Given the description of an element on the screen output the (x, y) to click on. 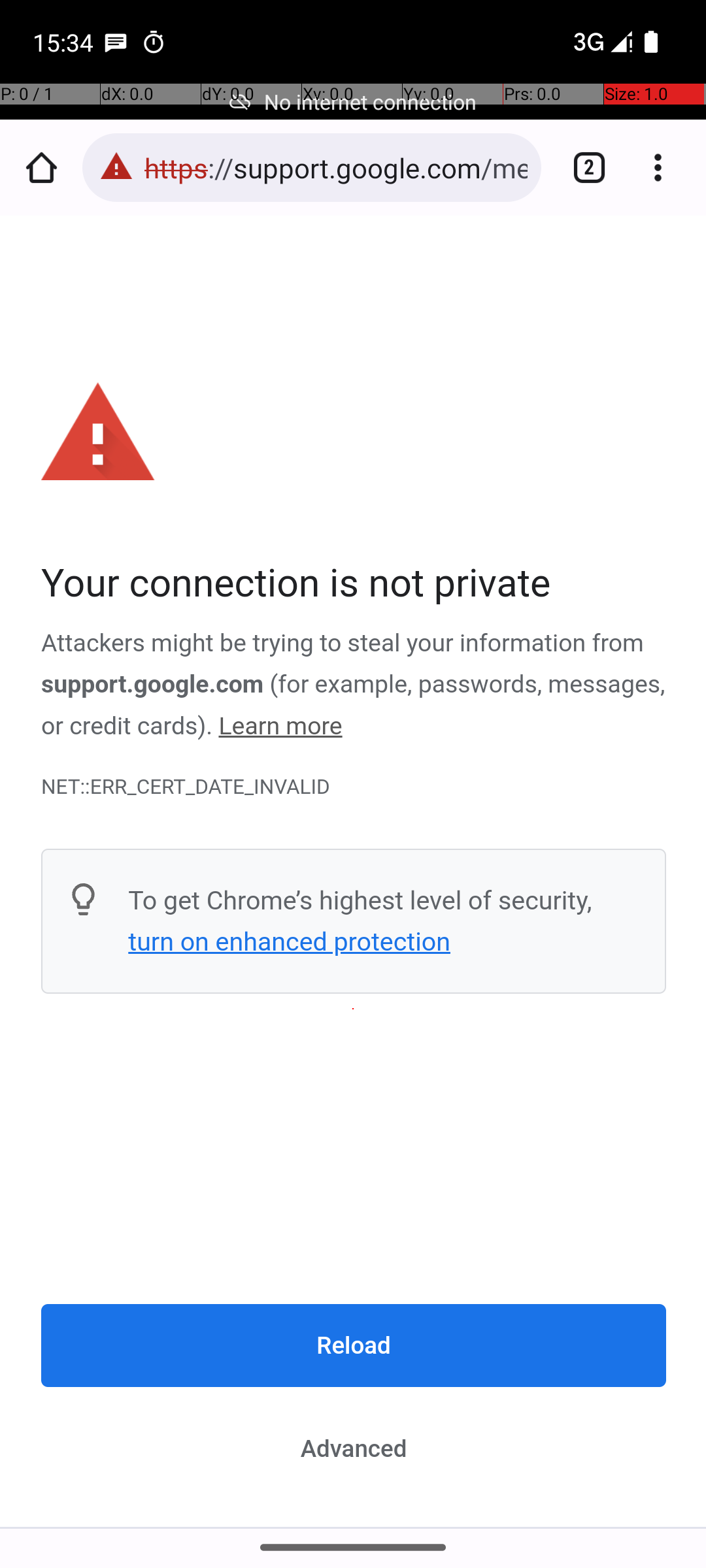
https://support.google.com/messages/?p=smart_reply Element type: android.widget.EditText (335, 167)
support.google.com Element type: android.widget.TextView (152, 684)
